Given the description of an element on the screen output the (x, y) to click on. 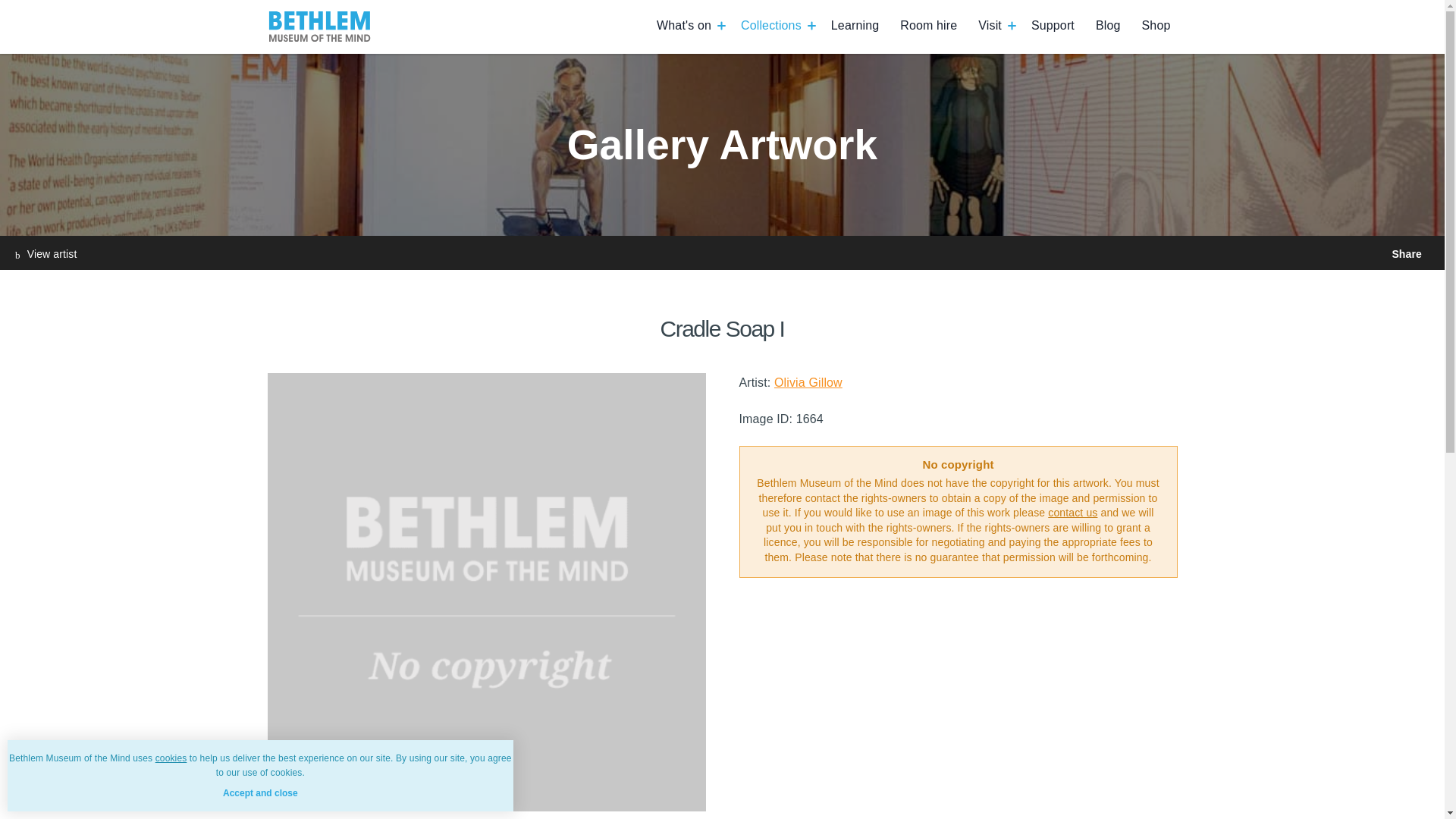
What's on (684, 25)
View artist (45, 254)
Bethlem Museum of the Mind Logo (318, 26)
Blog (1108, 25)
Collections (771, 25)
Room hire (928, 25)
What's on (684, 25)
contact us (1072, 512)
Olivia Gillow (808, 382)
Shop (1156, 25)
